Given the description of an element on the screen output the (x, y) to click on. 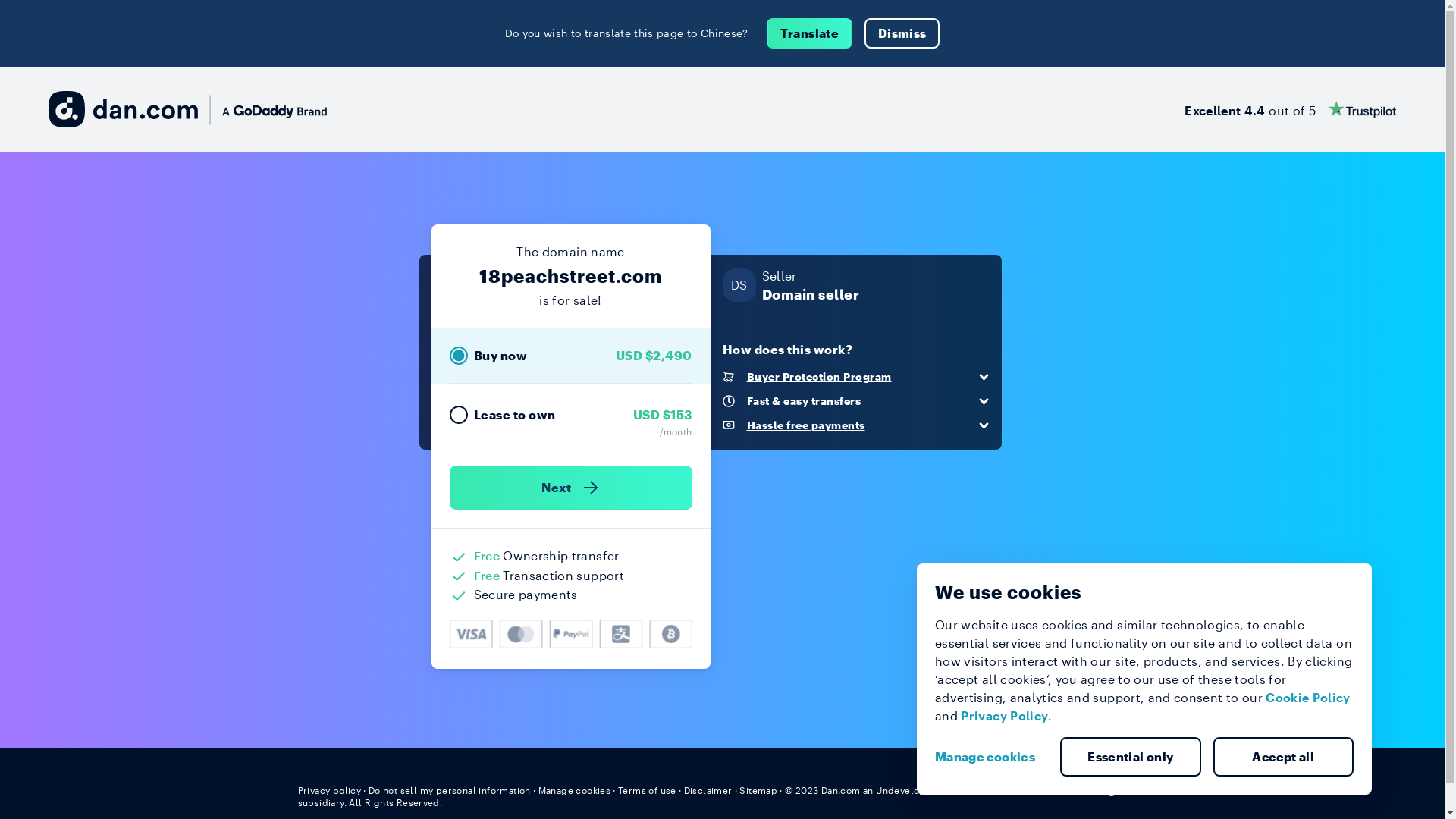
Accept all Element type: text (1283, 756)
Excellent 4.4 out of 5 Element type: text (1290, 109)
Sitemap Element type: text (758, 789)
Translate Element type: text (809, 33)
Manage cookies Element type: text (991, 756)
Do not sell my personal information Element type: text (449, 789)
Privacy policy Element type: text (328, 789)
Essential only Element type: text (1130, 756)
Next
) Element type: text (569, 487)
Dismiss Element type: text (901, 33)
Manage cookies Element type: text (574, 790)
Disclaimer Element type: text (708, 789)
Terms of use Element type: text (647, 789)
English Element type: text (1119, 789)
Privacy Policy Element type: text (1004, 715)
Cookie Policy Element type: text (1307, 697)
